Given the description of an element on the screen output the (x, y) to click on. 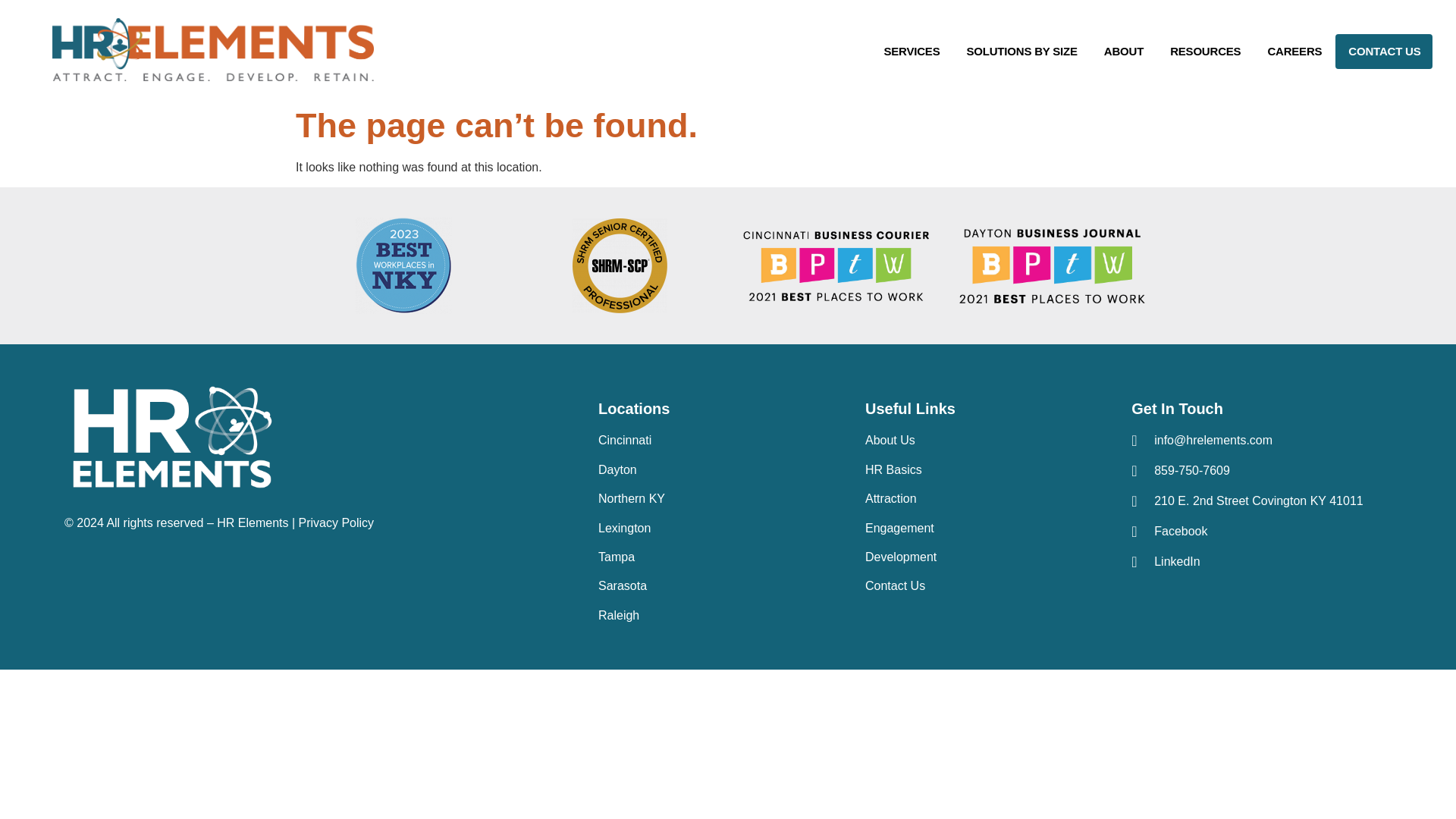
Engagement (899, 527)
Privacy Policy (336, 522)
CONTACT US (1383, 51)
SOLUTIONS BY SIZE (1021, 51)
Development (900, 556)
HR Basics (892, 469)
SERVICES (911, 51)
RESOURCES (1205, 51)
CAREERS (1294, 51)
About Us (889, 440)
